Given the description of an element on the screen output the (x, y) to click on. 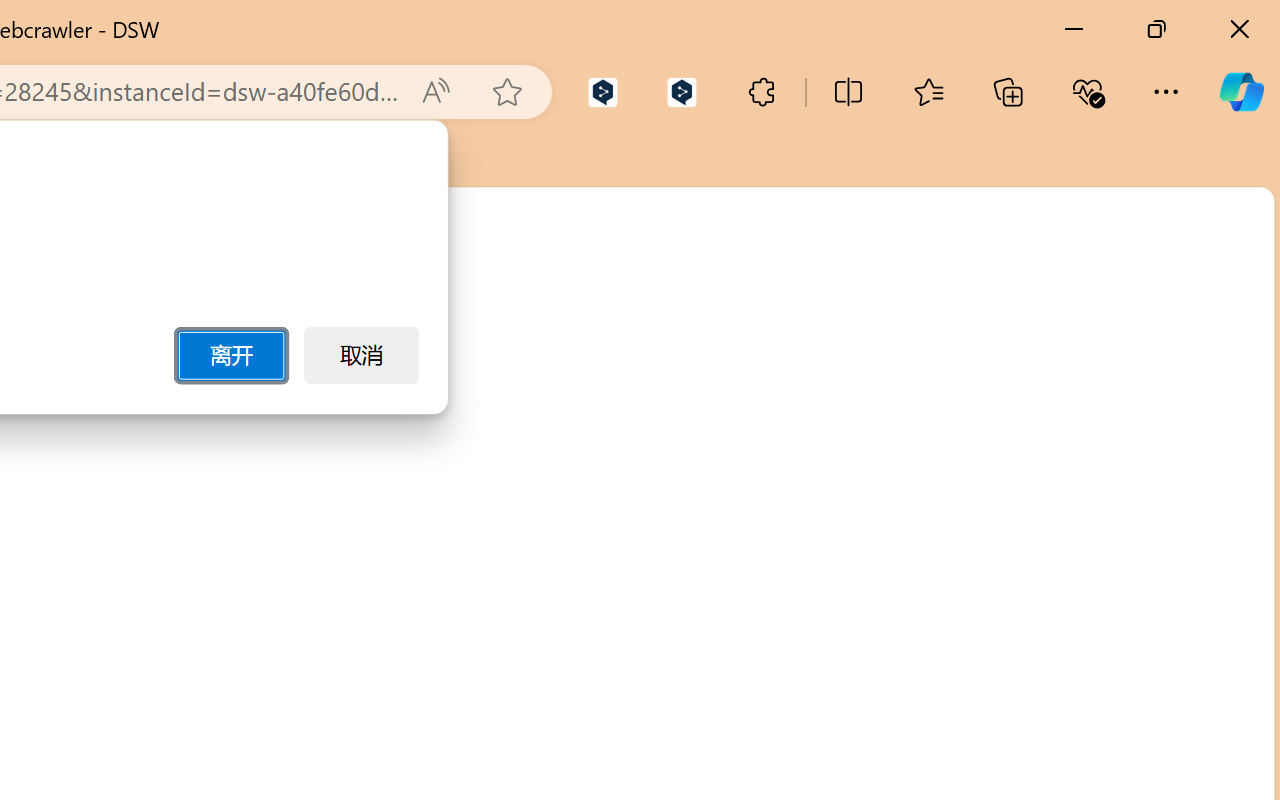
Assamese (1063, 571)
Azerbaijani (1063, 617)
Albanian (1063, 389)
Bashkir (1063, 708)
Czech (991, 455)
Afrikaans (1063, 343)
